Given the description of an element on the screen output the (x, y) to click on. 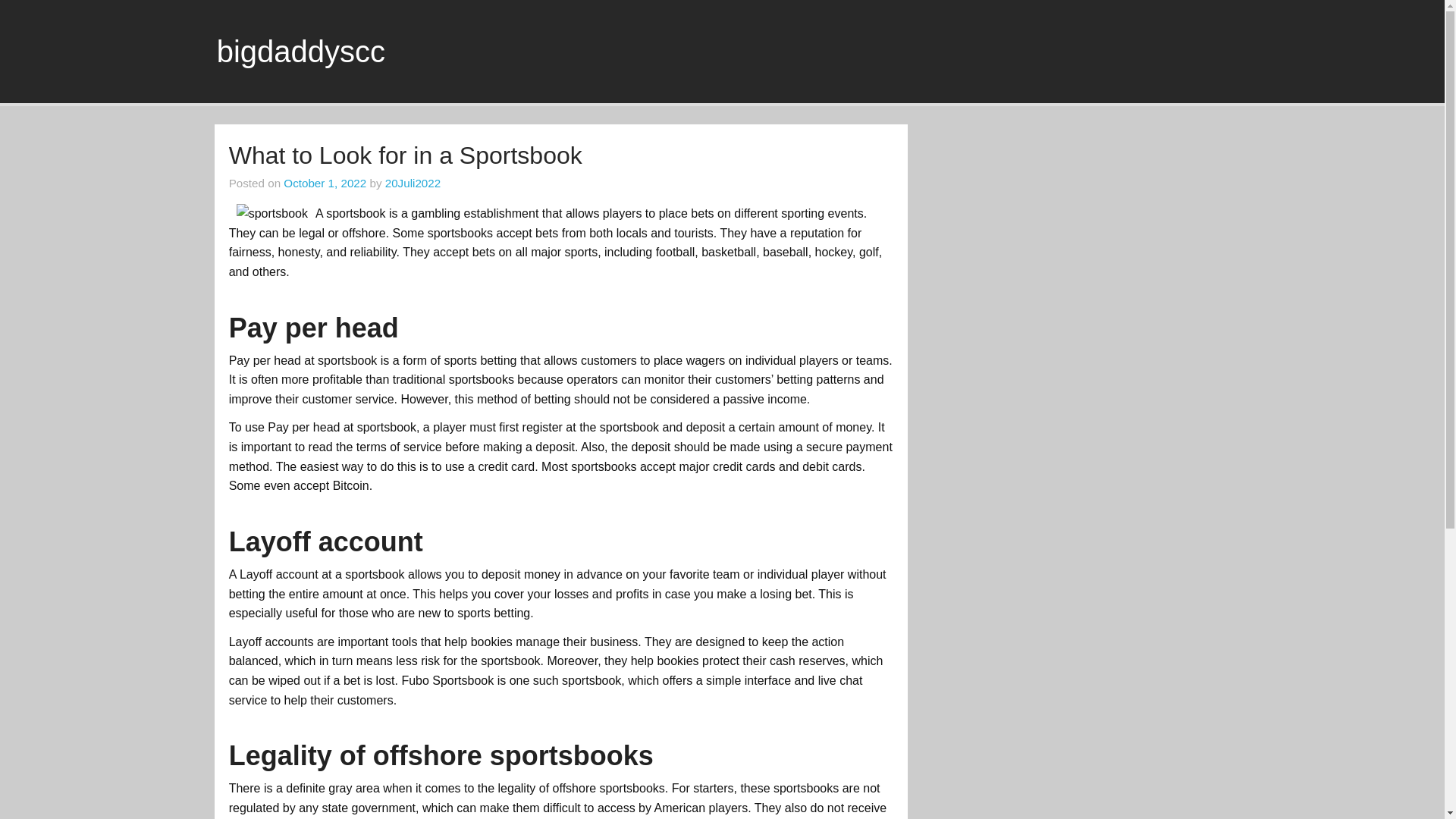
bigdaddyscc (300, 51)
View all posts by 20Juli2022 (413, 182)
October 1, 2022 (324, 182)
20Juli2022 (413, 182)
10:56 am (324, 182)
